Given the description of an element on the screen output the (x, y) to click on. 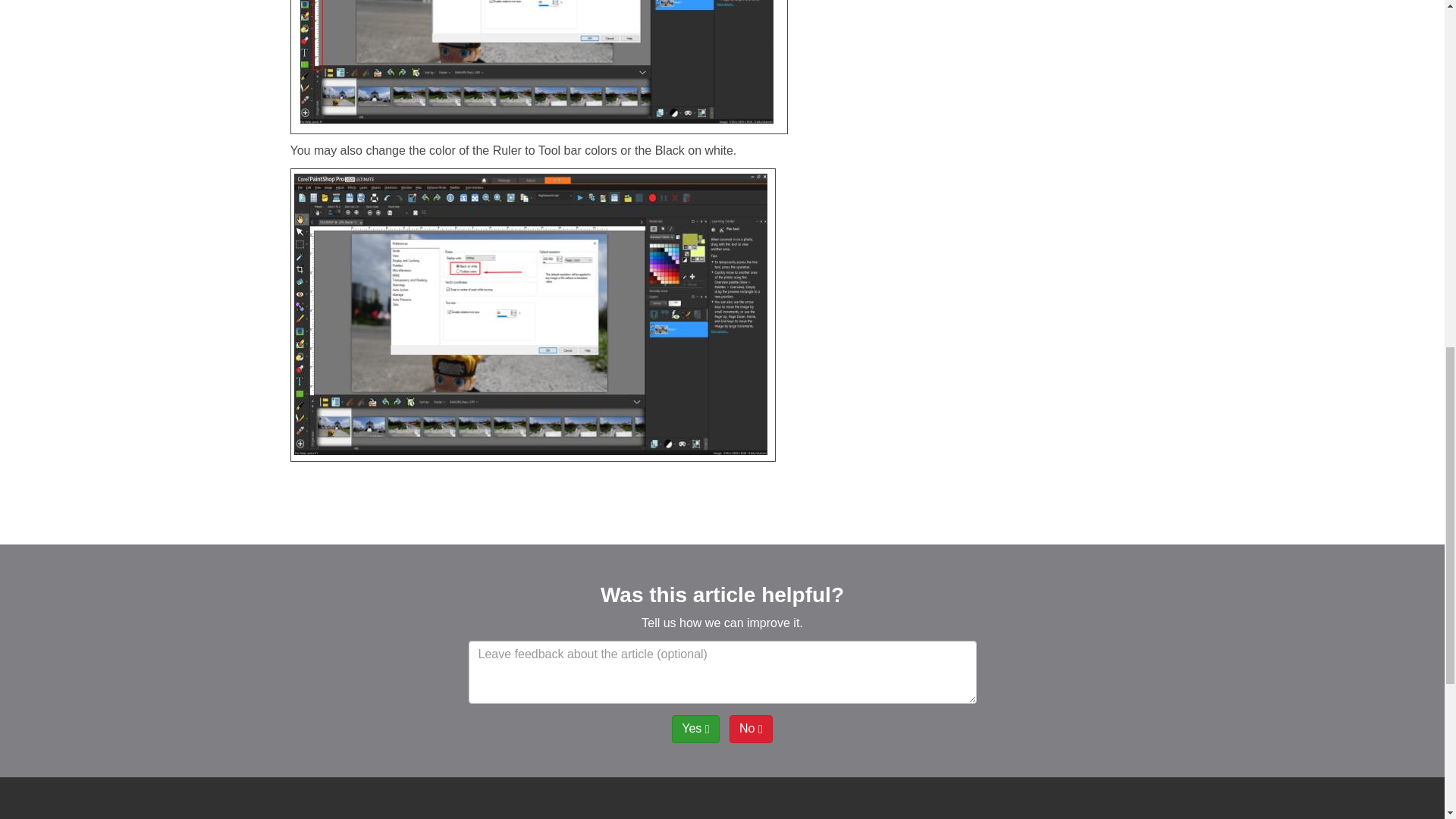
Article helped (695, 728)
Article did not help (751, 728)
Yes (695, 728)
No (751, 728)
